Given the description of an element on the screen output the (x, y) to click on. 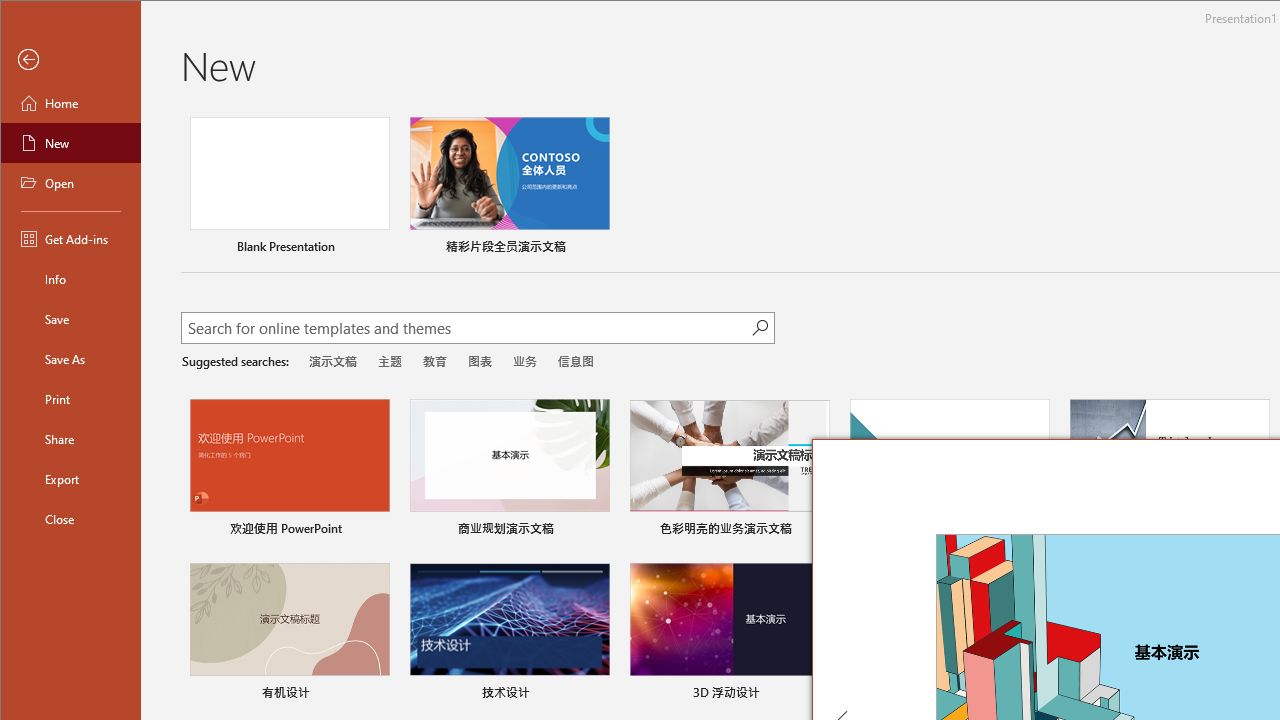
Blank Presentation (289, 187)
Back (70, 60)
Pin to list (596, 695)
Get Add-ins (70, 238)
Info (70, 278)
Search for online templates and themes (467, 330)
Print (70, 398)
